Given the description of an element on the screen output the (x, y) to click on. 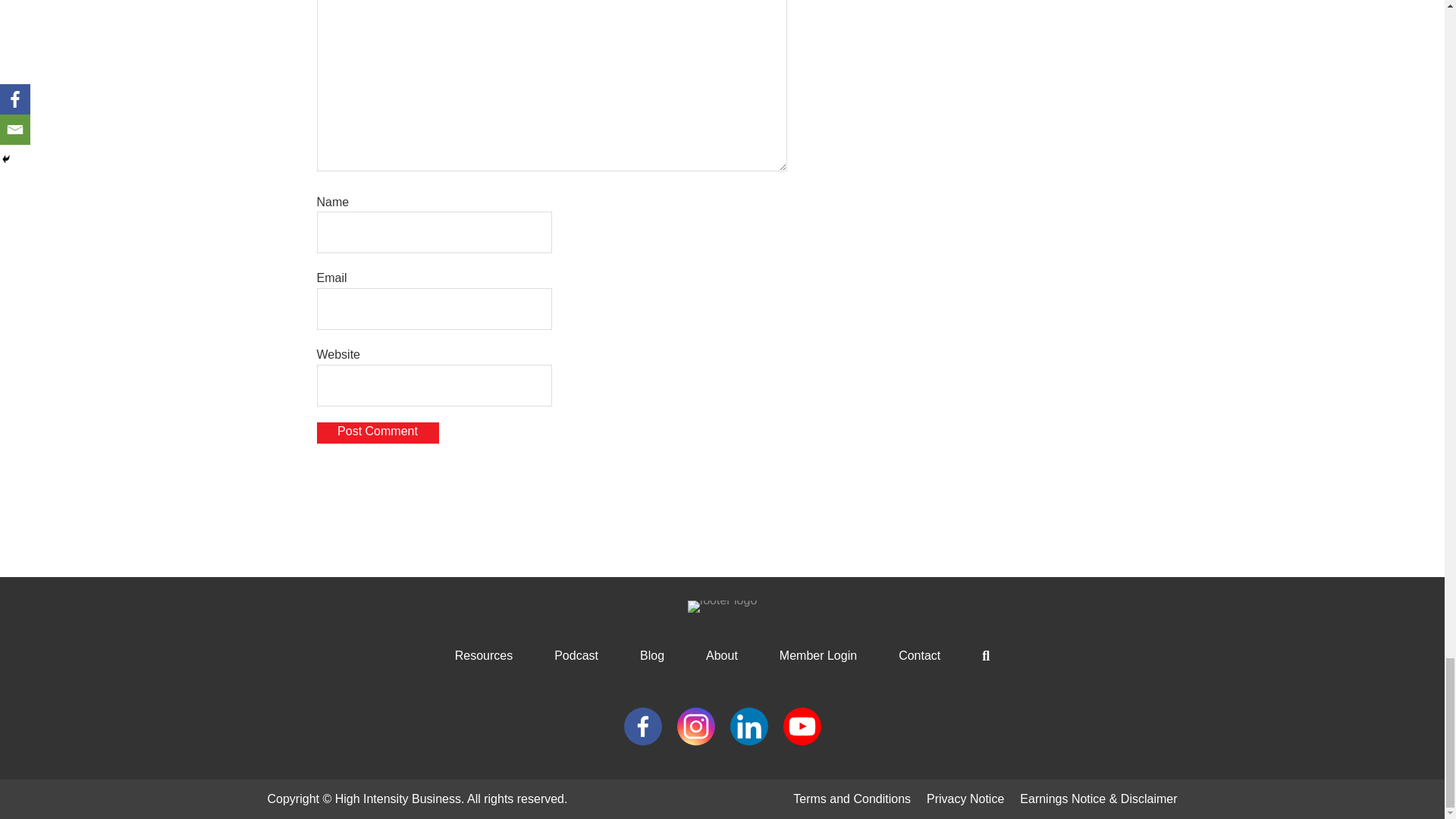
footer logo (722, 606)
Linkedin (748, 725)
Post Comment (378, 432)
Instagram (695, 725)
Facebook (642, 725)
Youtubechannel (802, 725)
